Given the description of an element on the screen output the (x, y) to click on. 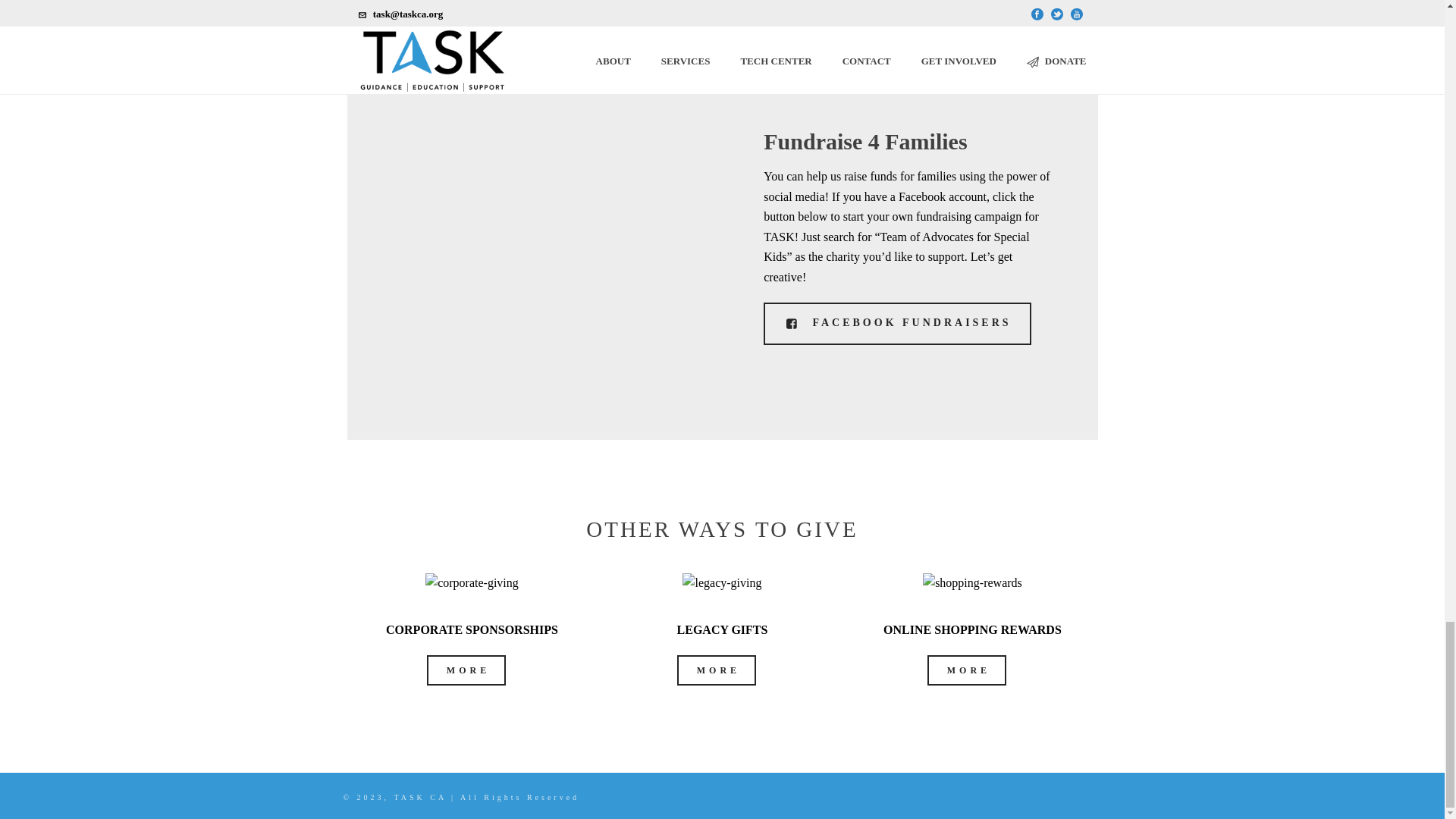
corporate-giving (471, 583)
MORE (966, 670)
DOWNLOAD FORM (827, 10)
MORE (716, 670)
legacy-giving (721, 583)
FACEBOOK FUNDRAISERS (896, 323)
shopping-rewards (972, 583)
MORE (465, 670)
